Given the description of an element on the screen output the (x, y) to click on. 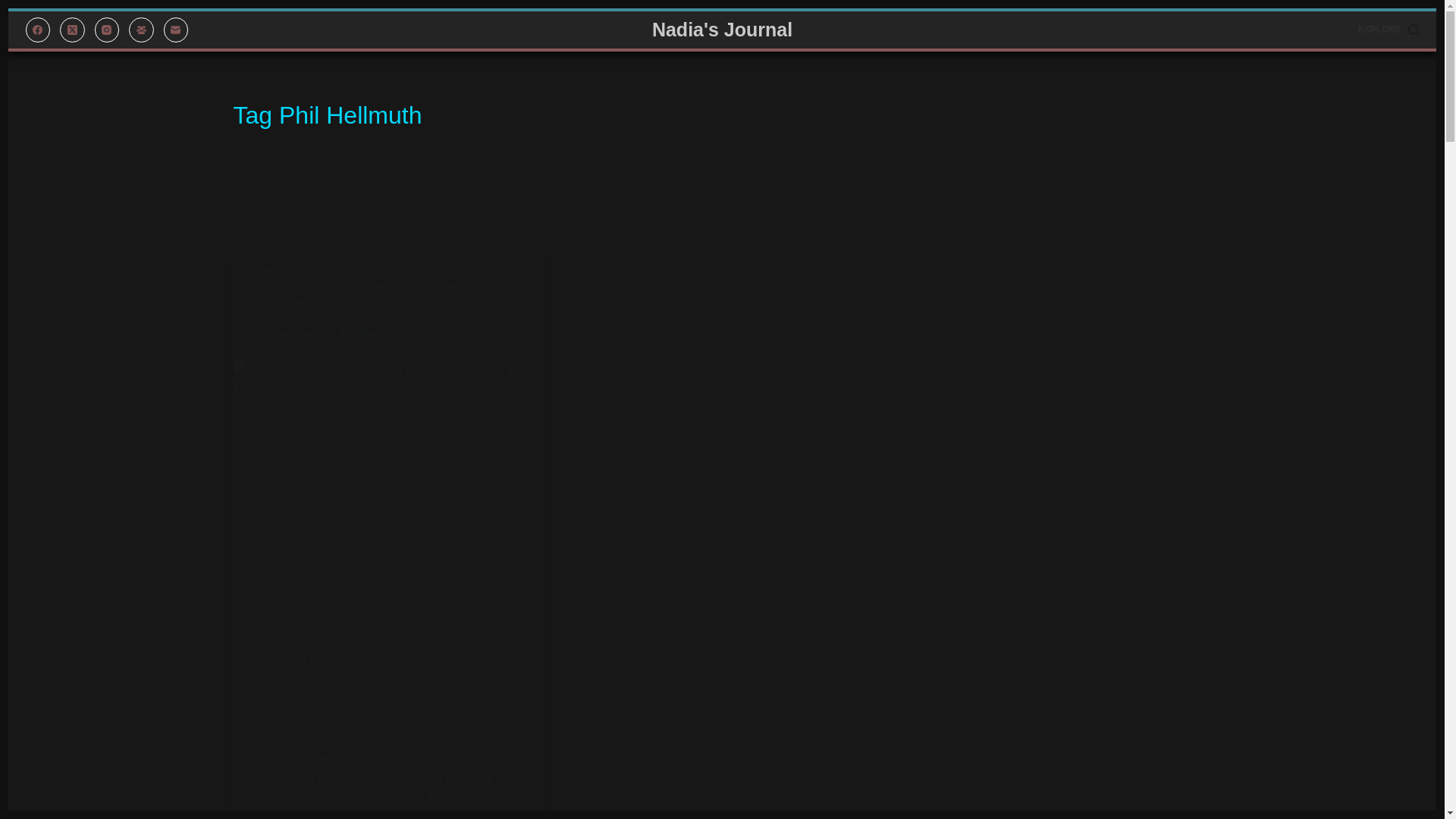
Nadia's Journal (722, 29)
QUOTES AND POEMS (447, 285)
FACEBOOK (418, 270)
Tag Phil Hellmuth (721, 115)
EMOTIONS OR EMOTIONAL (320, 270)
RELATIONSHIPS (295, 301)
EXPLORE (1388, 29)
NADIA MAZONIS (352, 285)
LOU LOU (380, 277)
FAITH (465, 270)
Skip to content (15, 7)
LOVE (295, 285)
I Dodged A Bullet (318, 334)
